Given the description of an element on the screen output the (x, y) to click on. 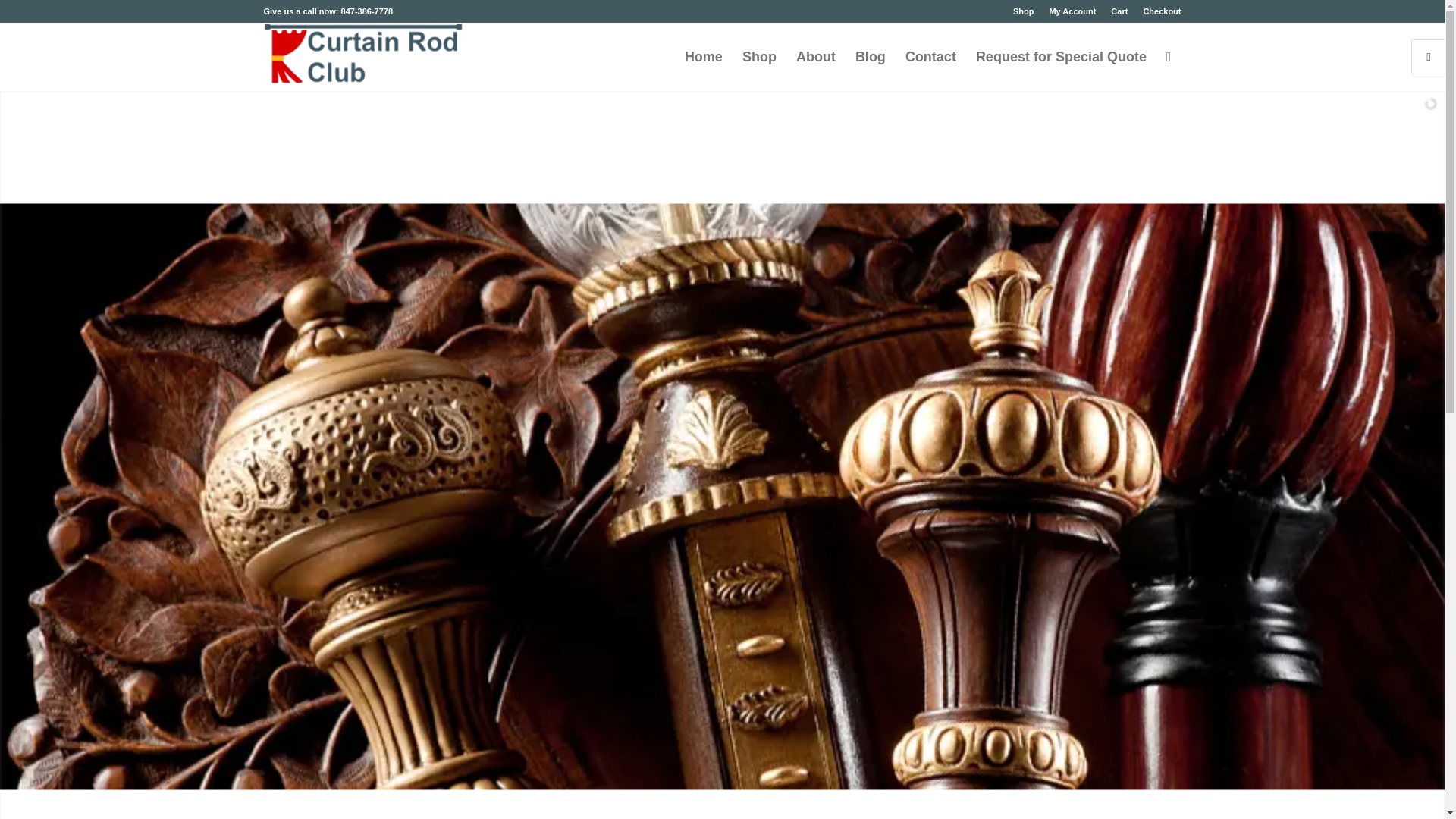
Shop (1023, 11)
My Account (1072, 11)
Checkout (1161, 11)
